Given the description of an element on the screen output the (x, y) to click on. 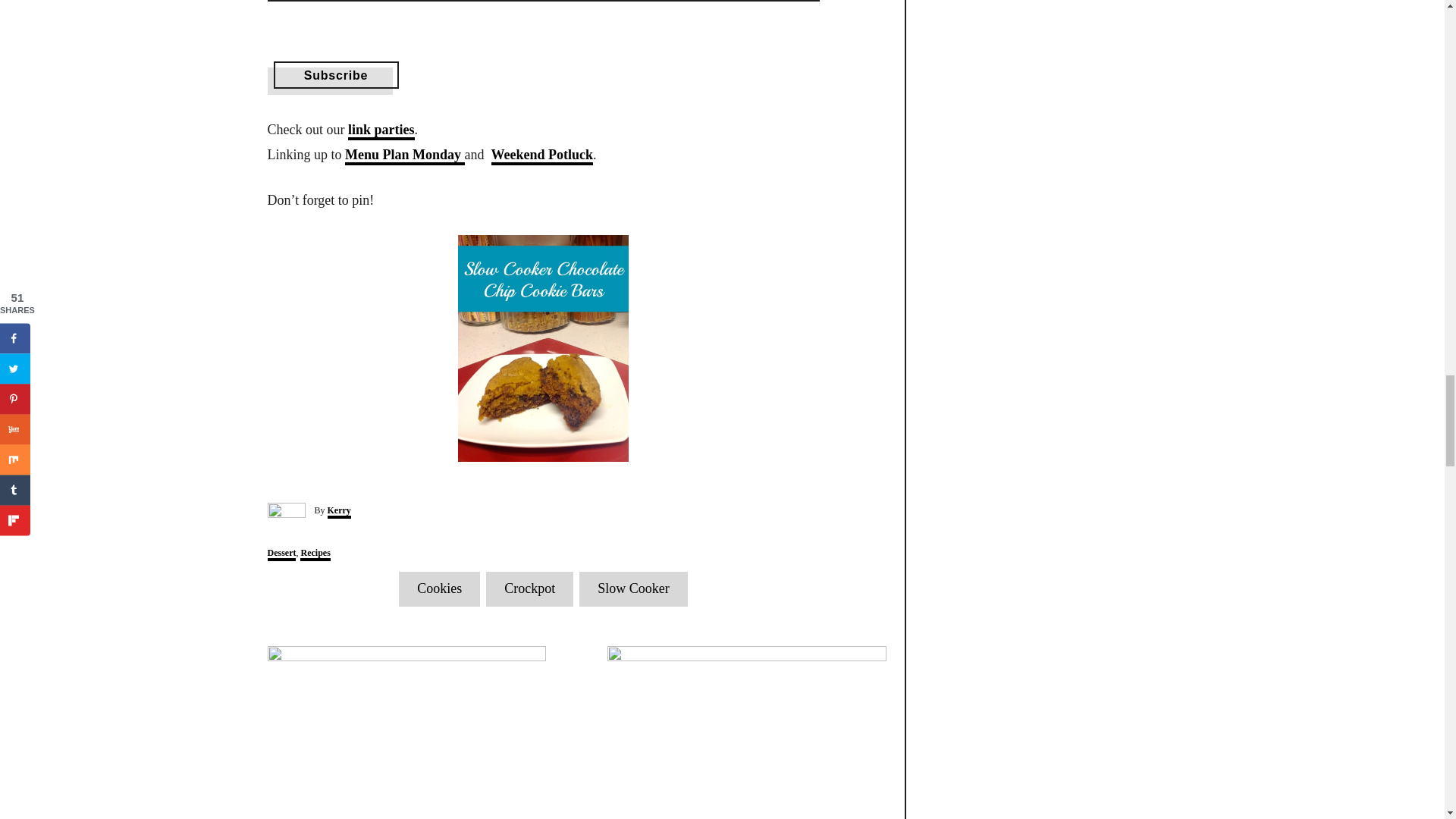
Cookies (439, 588)
Dessert (280, 554)
Subscribe (335, 74)
Crockpot (529, 588)
Menu Plan Monday (404, 156)
Subscribe (335, 74)
Recipes (314, 554)
Weekend Potluck (543, 156)
Slow Cooker (633, 588)
Kerry (338, 511)
link parties (380, 131)
